Given the description of an element on the screen output the (x, y) to click on. 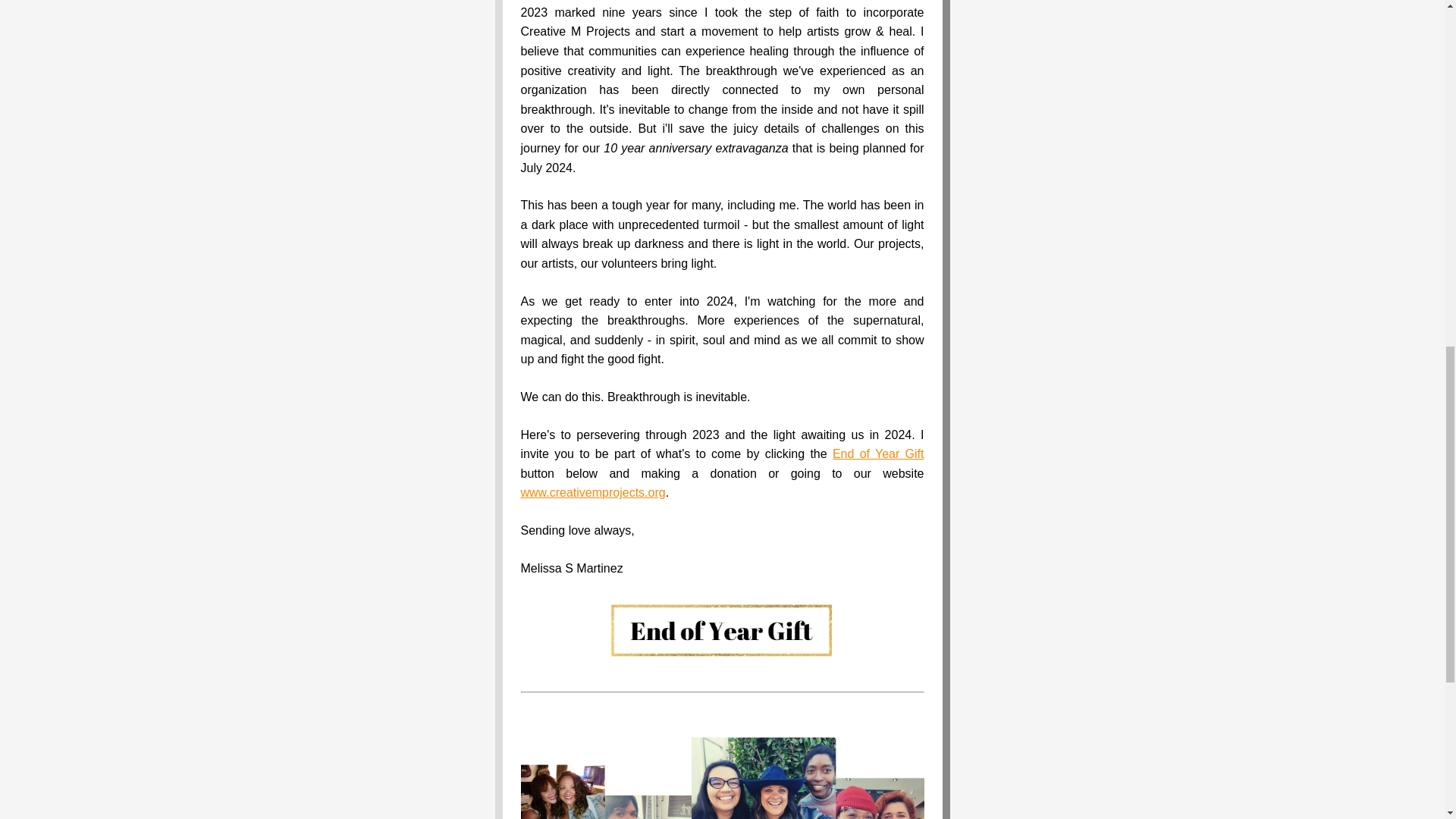
www.creativemprojects.org (592, 492)
End of Year Gift (878, 453)
